Given the description of an element on the screen output the (x, y) to click on. 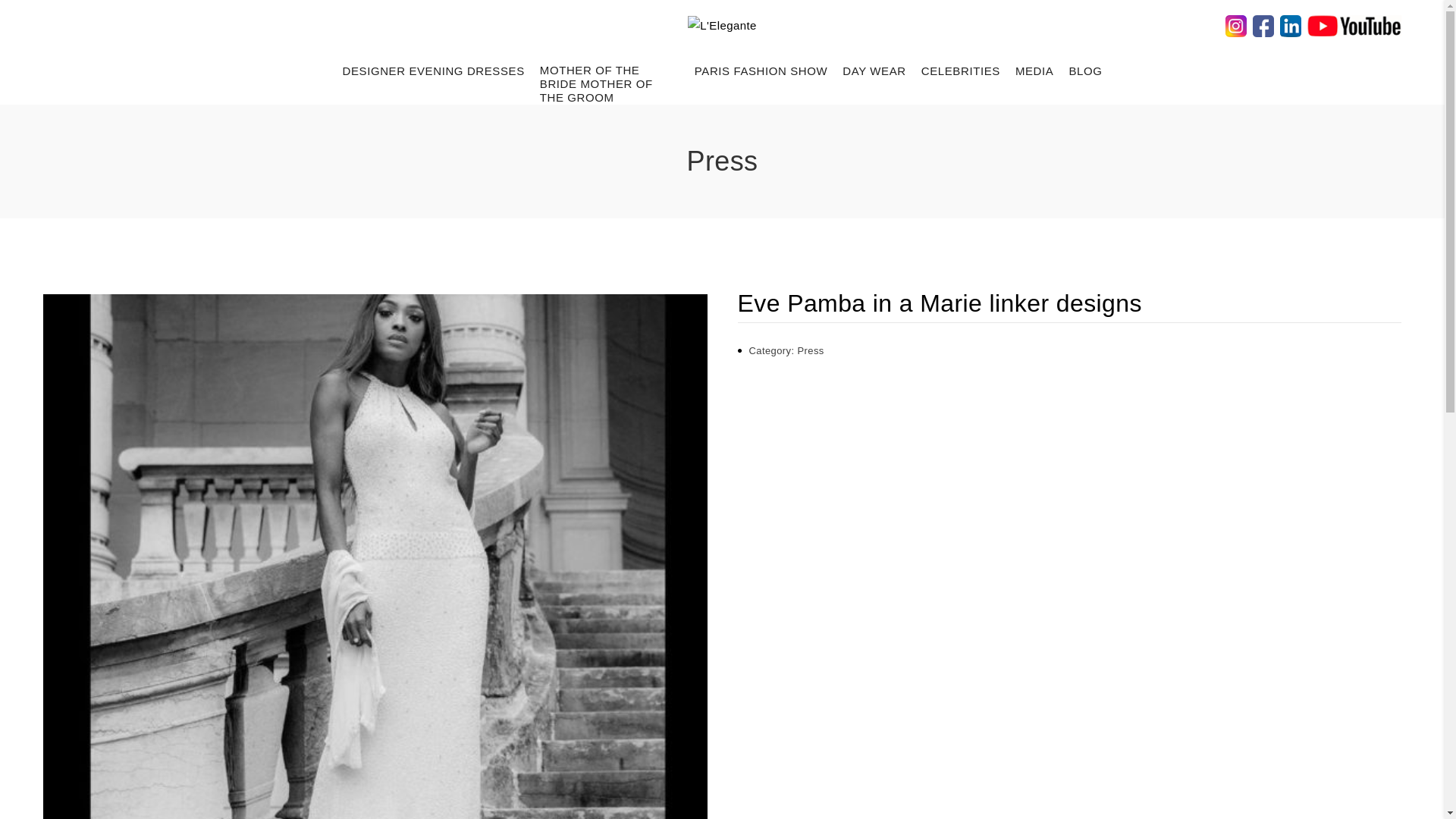
Linkedin Element type: hover (1290, 24)
PARIS FASHION SHOW Element type: text (761, 70)
MOTHER OF THE BRIDE MOTHER OF THE GROOM Element type: text (609, 75)
CELEBRITIES Element type: text (960, 70)
Press Element type: text (810, 350)
DAY WEAR Element type: text (873, 70)
MEDIA Element type: text (1034, 70)
Facebook Element type: hover (1263, 24)
Instagram Element type: hover (1235, 24)
Youtube Element type: hover (1354, 24)
DESIGNER EVENING DRESSES Element type: text (433, 70)
BLOG Element type: text (1084, 70)
